Given the description of an element on the screen output the (x, y) to click on. 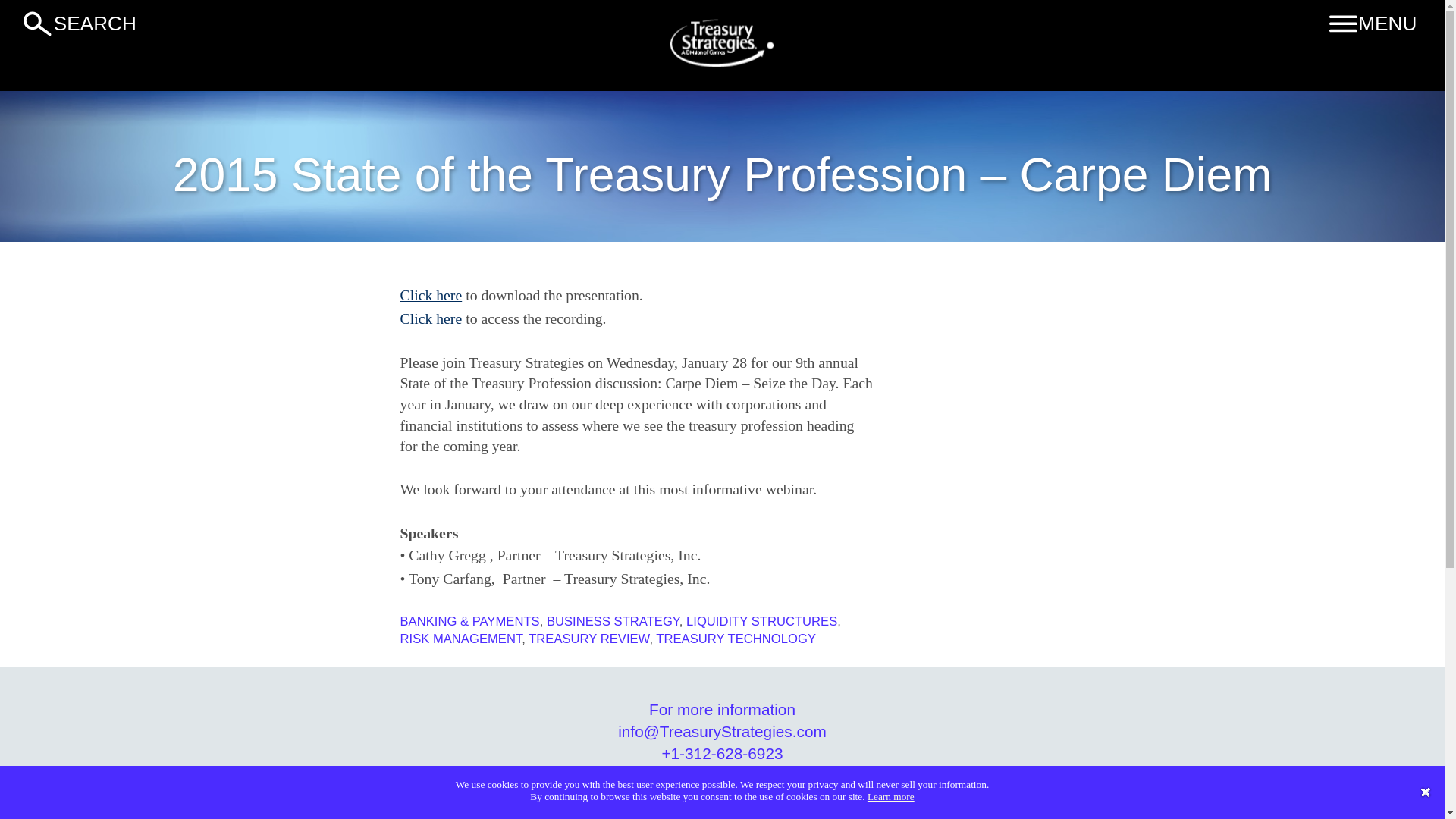
Click here (431, 294)
Click here (431, 318)
RISK MANAGEMENT (461, 638)
LIQUIDITY STRUCTURES (761, 621)
BUSINESS STRATEGY (613, 621)
TREASURY REVIEW (588, 638)
TREASURY TECHNOLOGY (735, 638)
Learn more (890, 796)
SEARCH (109, 23)
